Given the description of an element on the screen output the (x, y) to click on. 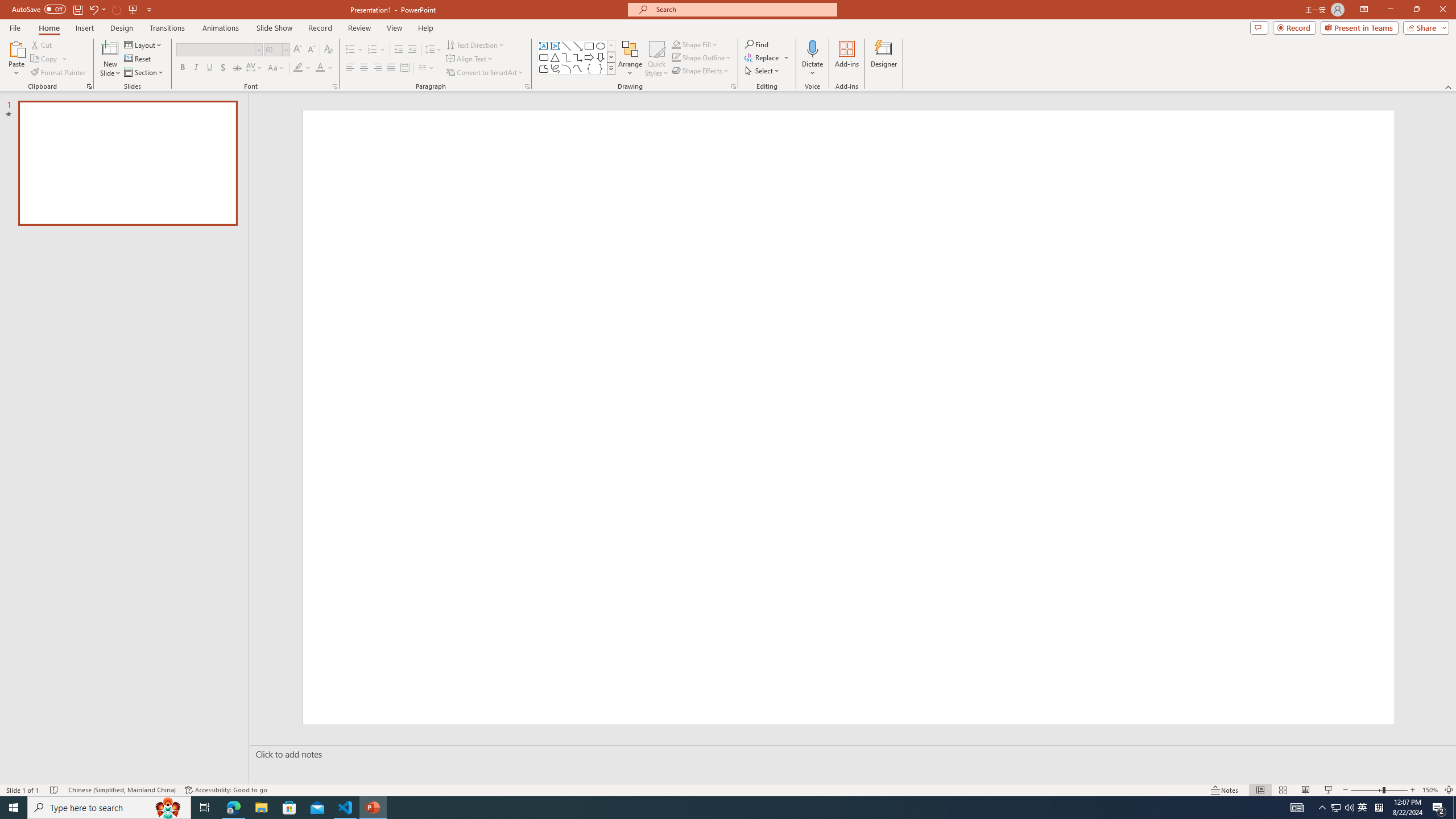
Align Right (377, 67)
Vertical Text Box (554, 45)
Numbering (376, 49)
Format Painter (58, 72)
Layout (143, 44)
Shape Fill Orange, Accent 2 (675, 44)
Shadow (223, 67)
Numbering (372, 49)
Oval (600, 45)
